Given the description of an element on the screen output the (x, y) to click on. 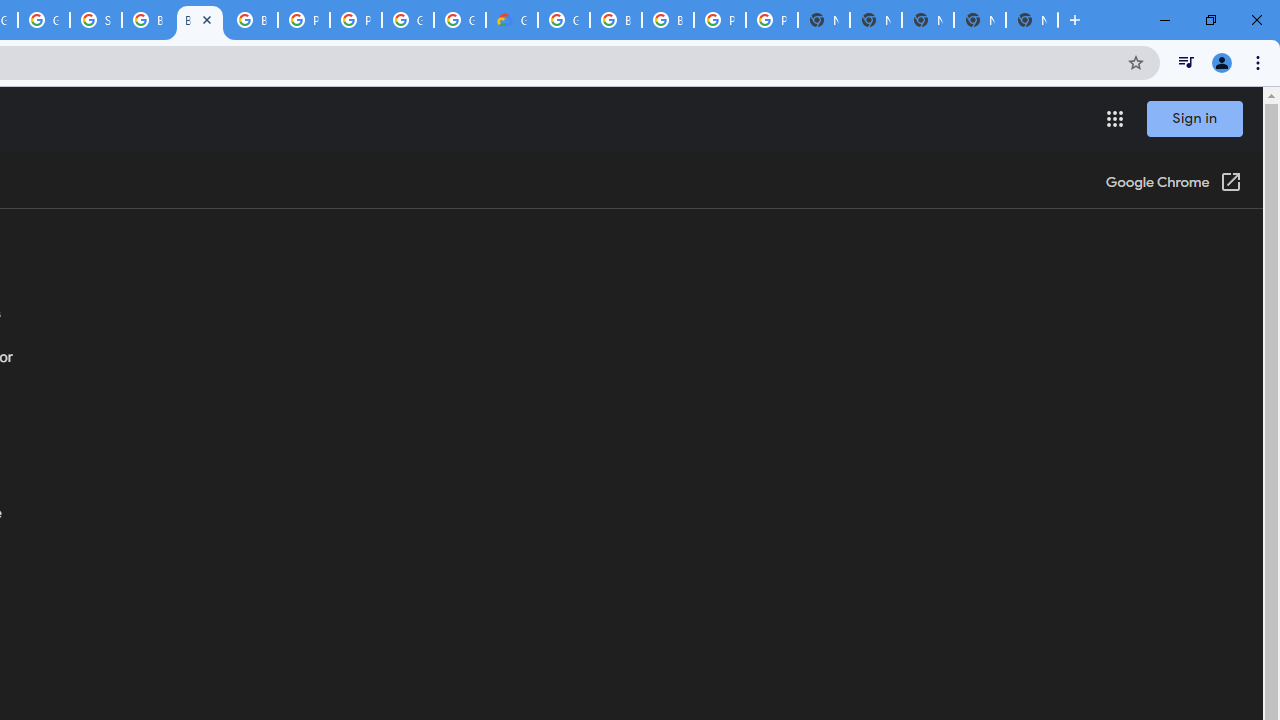
Browse Chrome as a guest - Computer - Google Chrome Help (667, 20)
Browse Chrome as a guest - Computer - Google Chrome Help (251, 20)
Bookmark this tab (1135, 62)
Close (207, 19)
Control your music, videos, and more (1185, 62)
New Tab (1075, 20)
Google Cloud Estimate Summary (511, 20)
Browse Chrome as a guest - Computer - Google Chrome Help (200, 20)
Restore (1210, 20)
You (1221, 62)
Google Cloud Platform (459, 20)
